Given the description of an element on the screen output the (x, y) to click on. 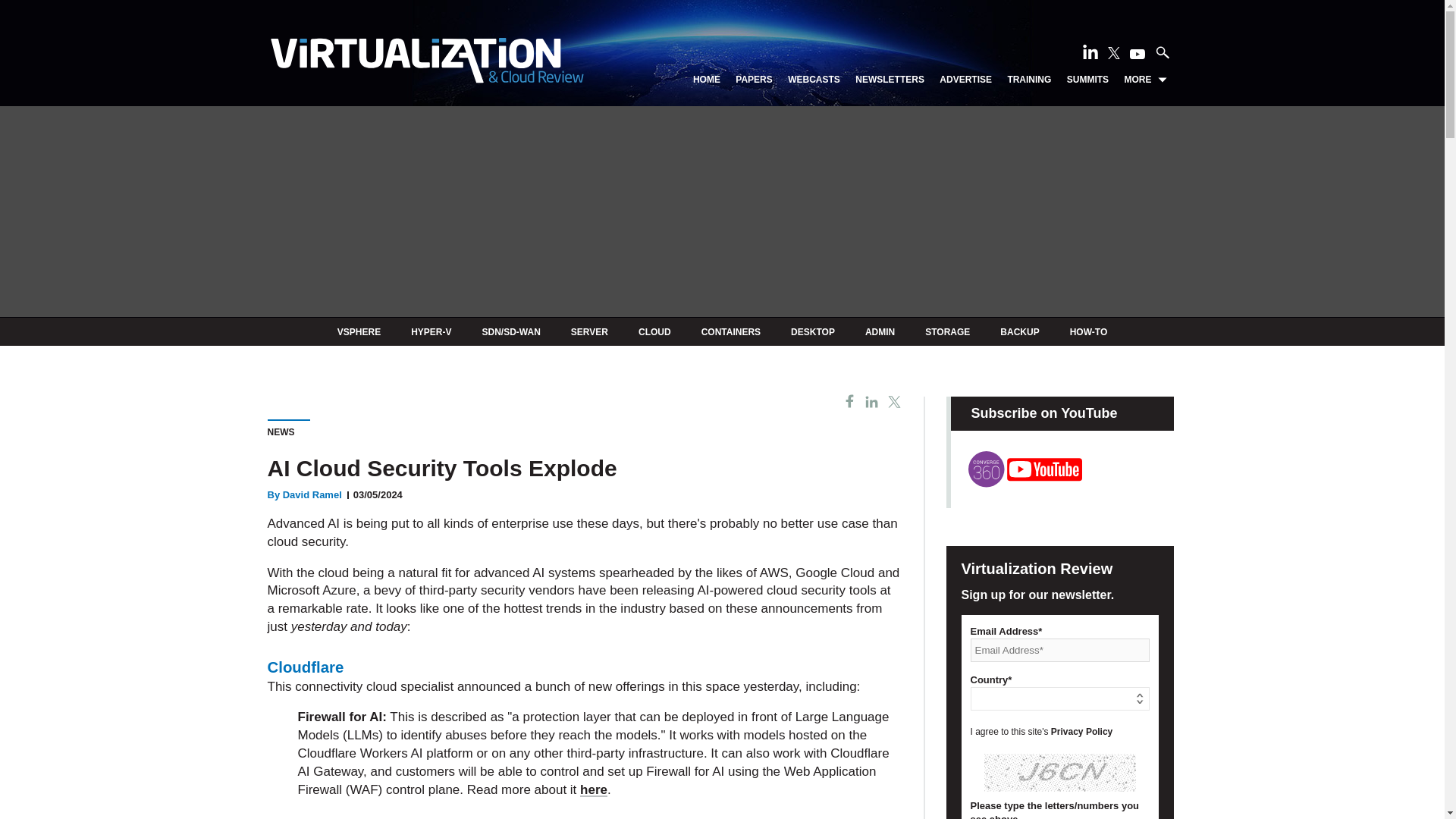
SUMMITS (1087, 79)
ADVERTISE (965, 79)
PAPERS (753, 79)
SERVER (589, 331)
WEBCASTS (813, 79)
HOME (706, 79)
MORE (1145, 79)
CLOUD (655, 331)
VSPHERE (358, 331)
